Given the description of an element on the screen output the (x, y) to click on. 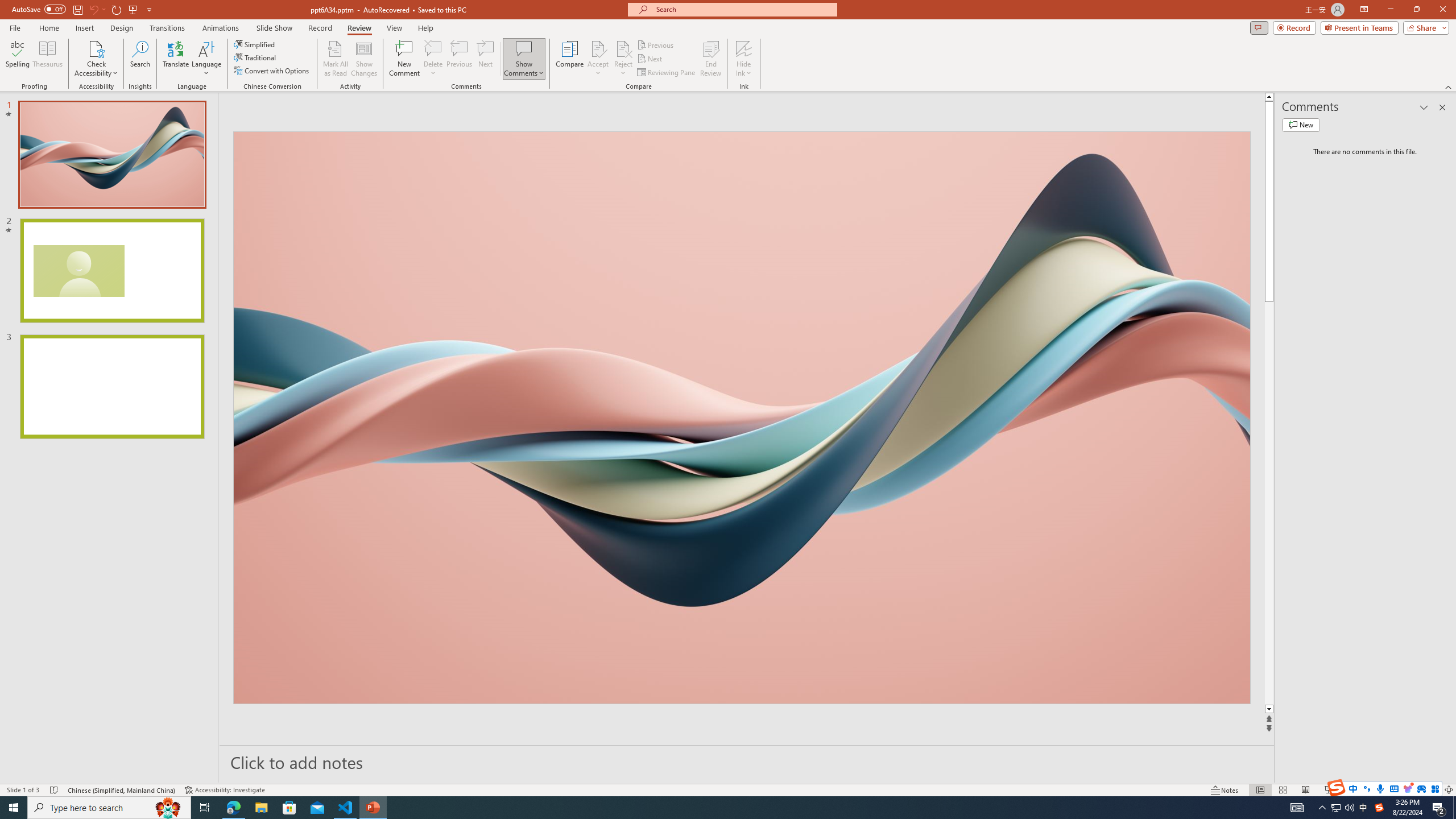
Mark All as Read (335, 58)
